Given the description of an element on the screen output the (x, y) to click on. 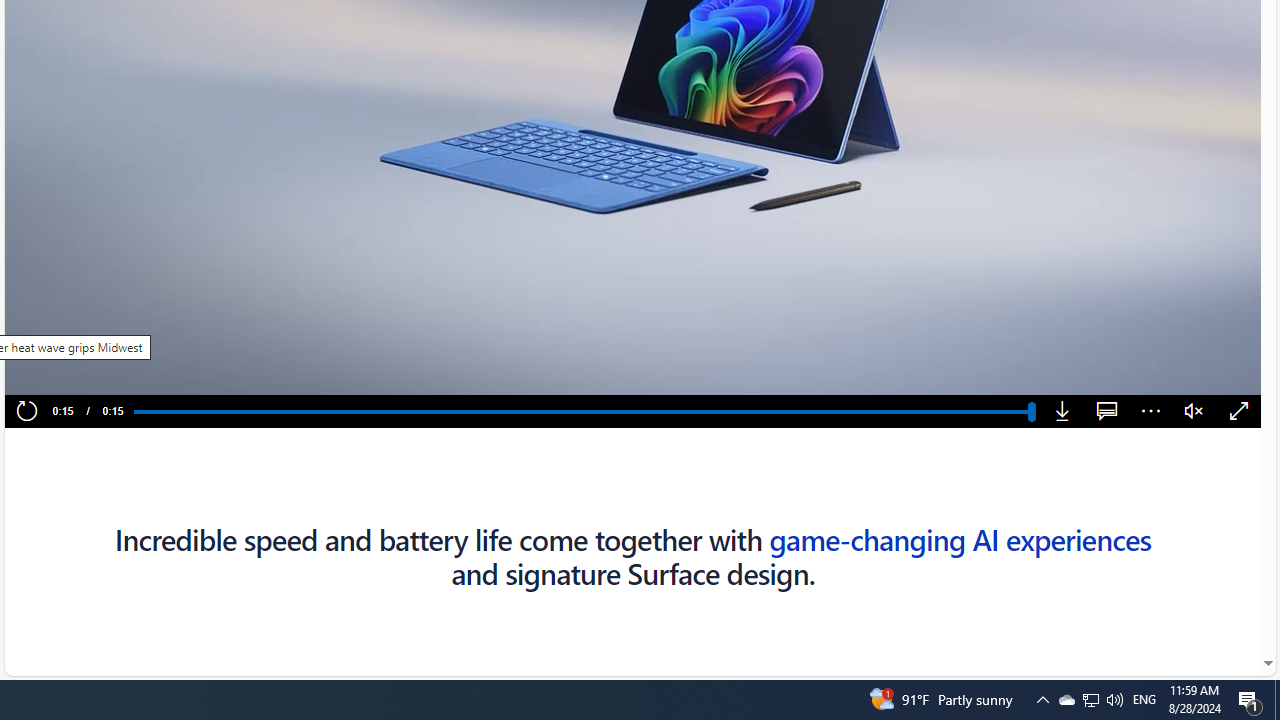
Captions (1106, 412)
Progress Bar (582, 411)
Download (1062, 412)
Pause (60, 372)
AutomationID: pause-svg (61, 372)
Unmute (1194, 412)
Fullscreen (1238, 412)
Replay (26, 412)
